Given the description of an element on the screen output the (x, y) to click on. 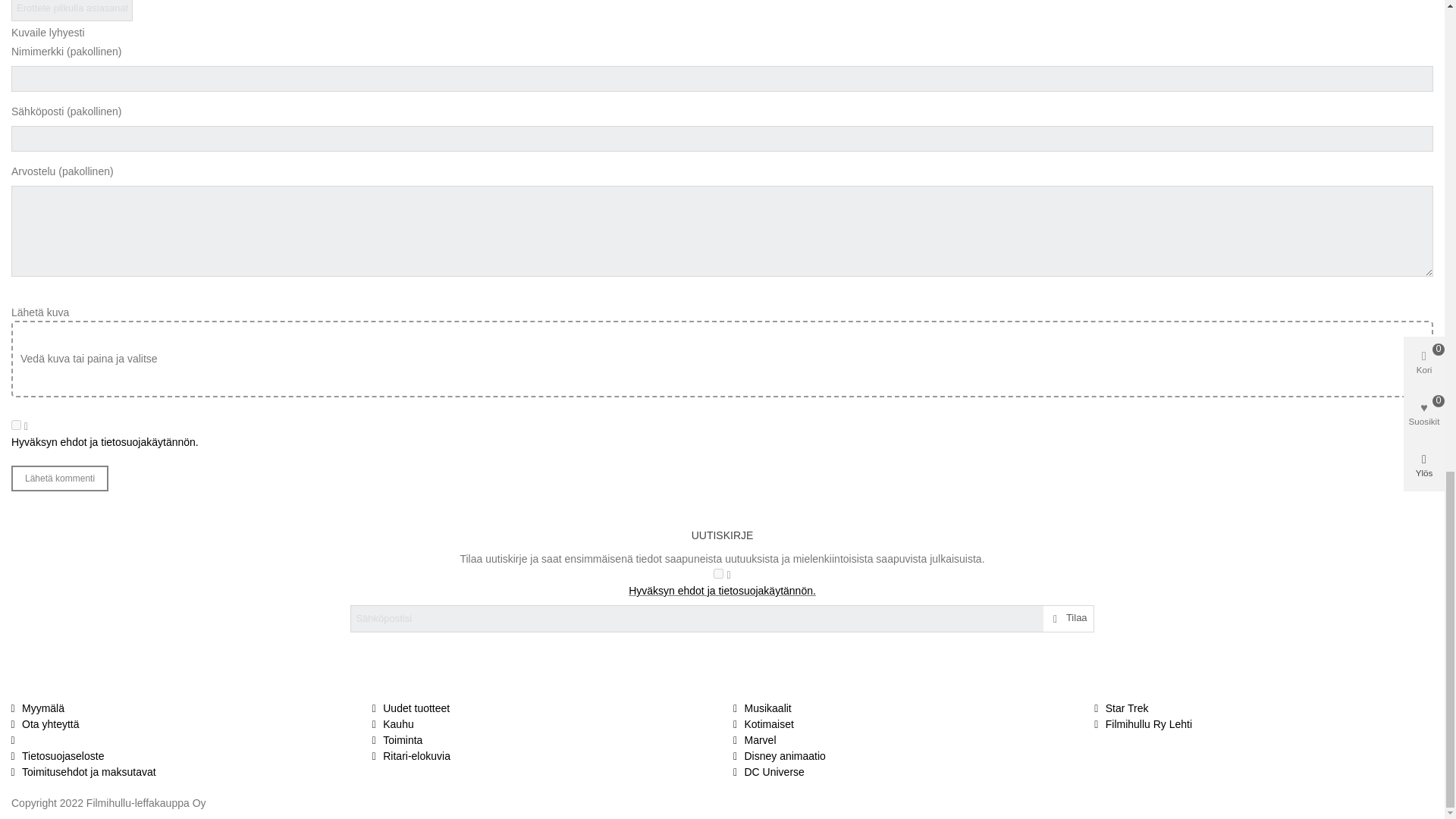
1 (16, 424)
1 (718, 573)
